Given the description of an element on the screen output the (x, y) to click on. 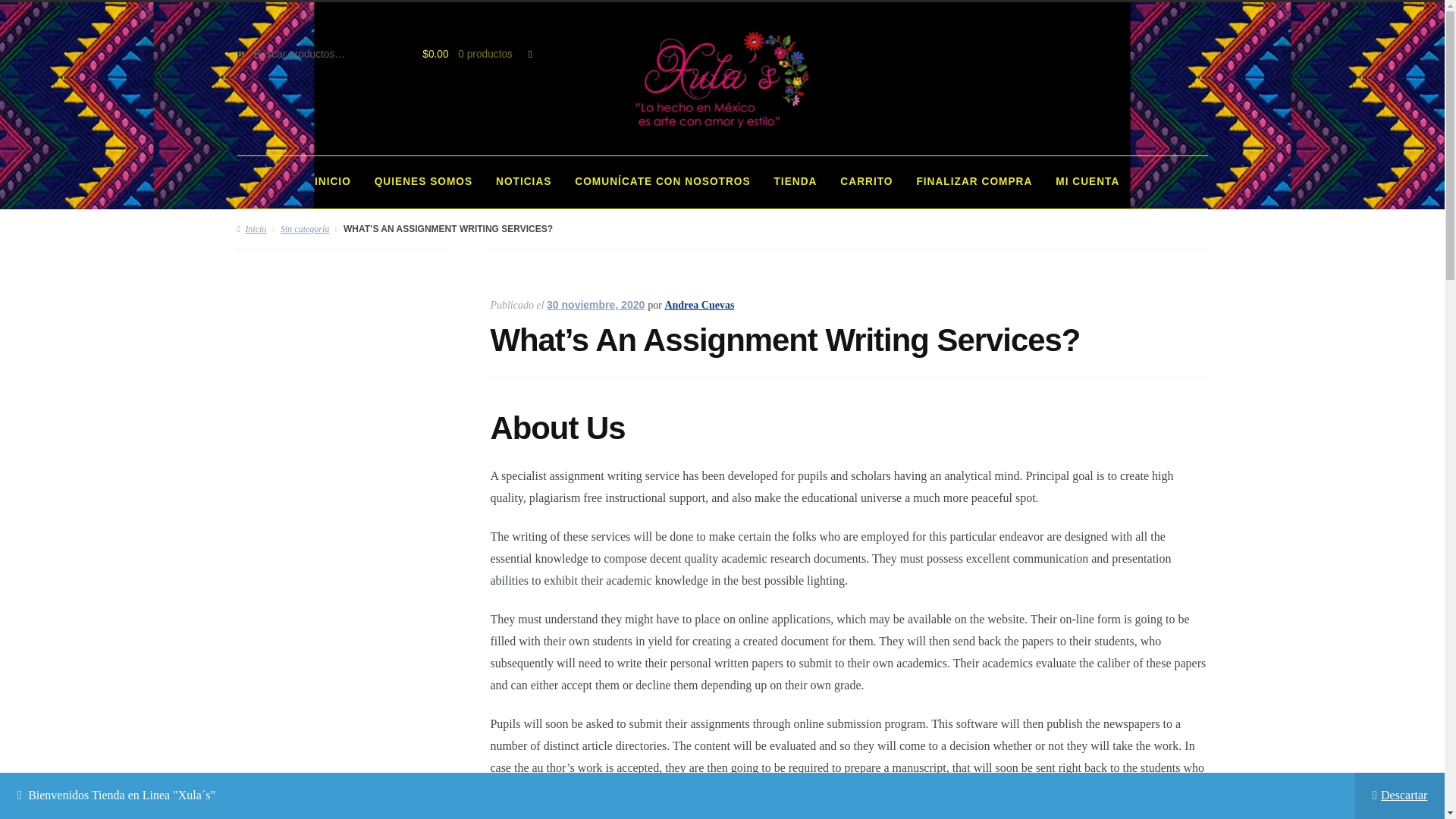
Inicio (250, 228)
MI CUENTA (1088, 182)
FINALIZAR COMPRA (973, 182)
INICIO (332, 182)
QUIENES SOMOS (423, 182)
NOTICIAS (523, 182)
CARRITO (866, 182)
Andrea Cuevas (698, 305)
30 noviembre, 2020 (596, 304)
TIENDA (794, 182)
Ver tu carrito de compra (469, 54)
